Given the description of an element on the screen output the (x, y) to click on. 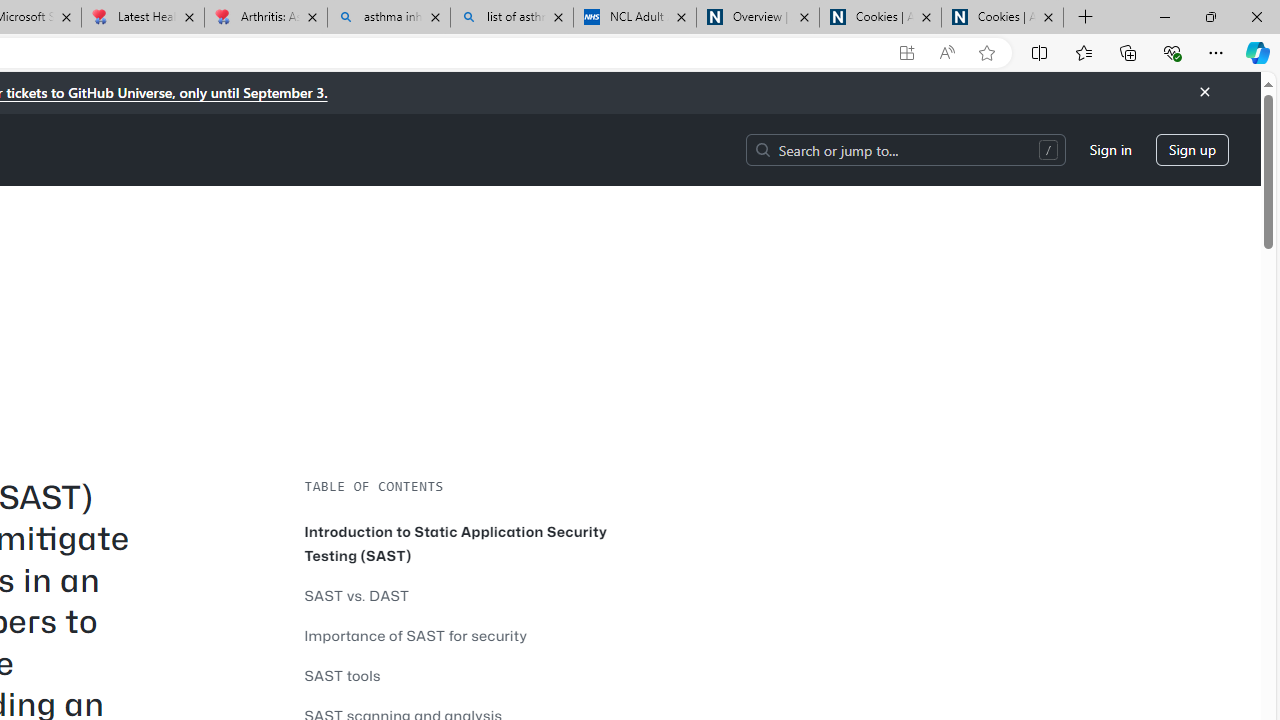
SAST tools (460, 675)
Sign up (1191, 149)
Importance of SAST for security (415, 635)
Introduction to Static Application Security Testing (SAST) (460, 543)
Cookies | About | NICE (1002, 17)
App available. Install GitHub (906, 53)
